Given the description of an element on the screen output the (x, y) to click on. 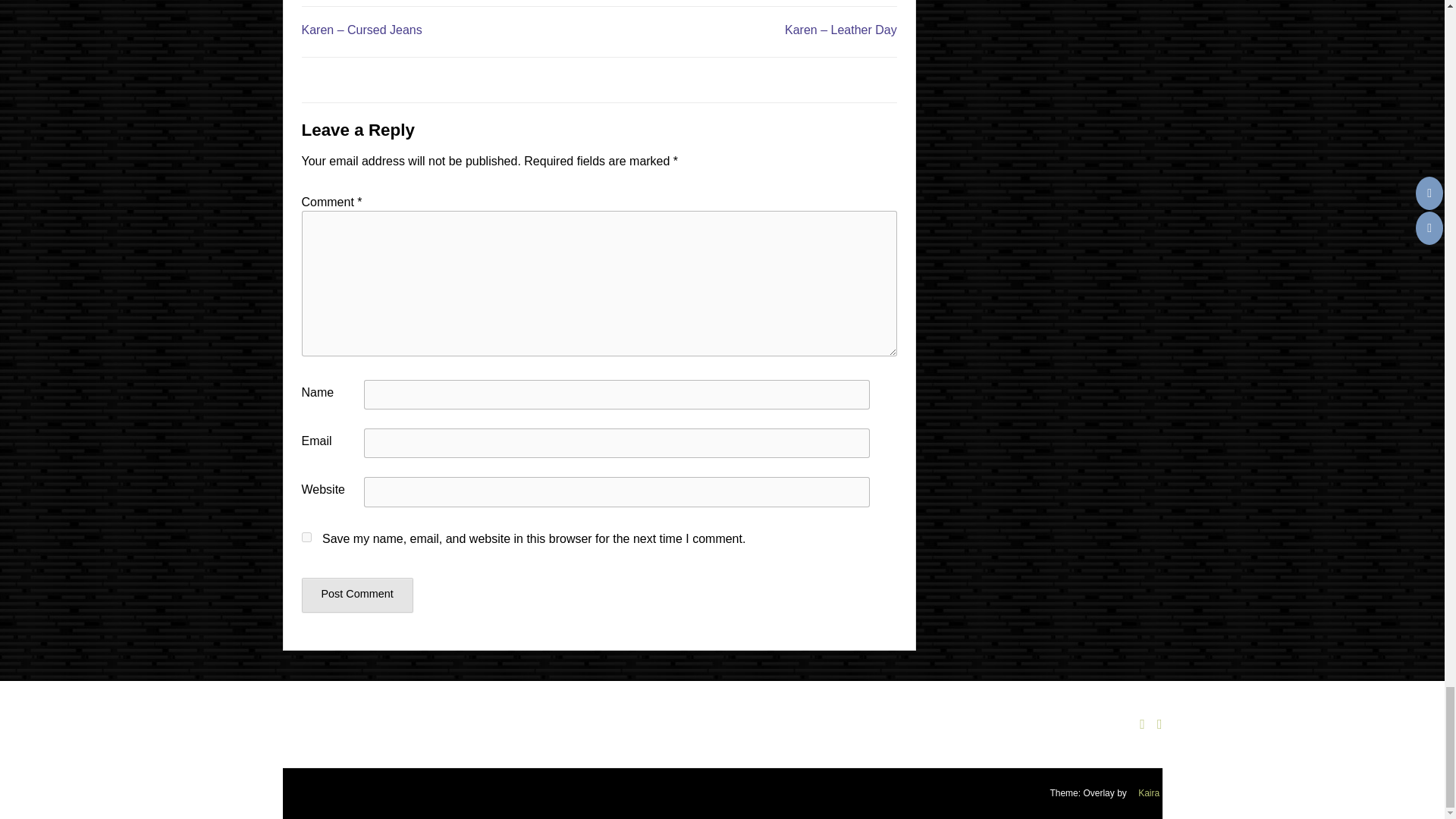
Post Comment (357, 595)
yes (306, 537)
Post Comment (357, 595)
